Given the description of an element on the screen output the (x, y) to click on. 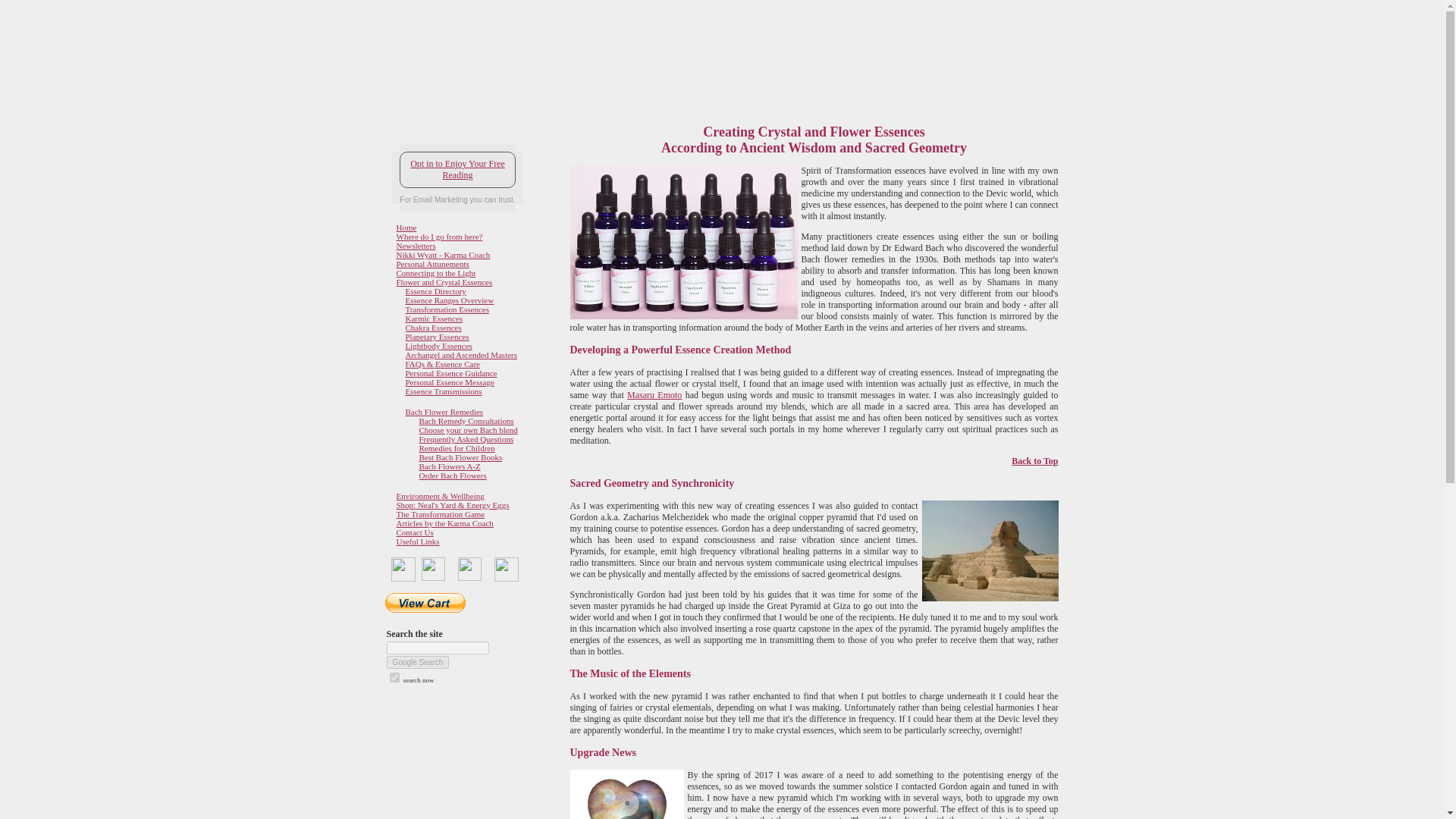
Home (406, 226)
Contact Us (414, 532)
Personal Essence Guidance (450, 372)
Best Bach Flower Books (460, 456)
Newsletters (415, 245)
The Transformation Game (440, 513)
Opt in to Enjoy Your Free Reading (456, 169)
Essence Transmissions (442, 390)
Lightbody Essences (437, 345)
Useful Links (417, 541)
Bach Flowers A-Z (449, 465)
Google Search (418, 662)
Bach Flower Remedies (443, 411)
Essence Directory (434, 290)
Karmic Essences (432, 317)
